Given the description of an element on the screen output the (x, y) to click on. 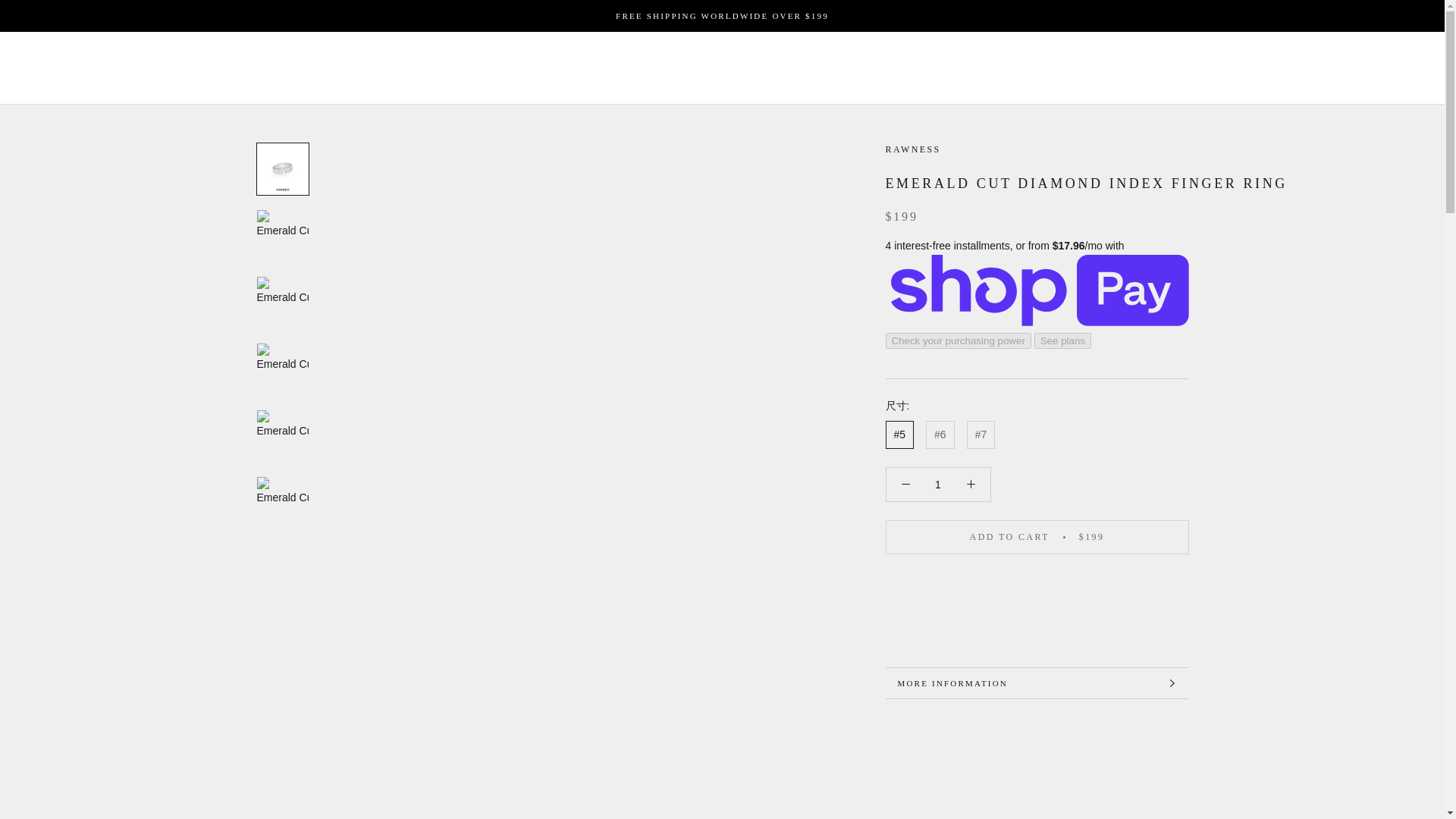
1 (938, 484)
